Given the description of an element on the screen output the (x, y) to click on. 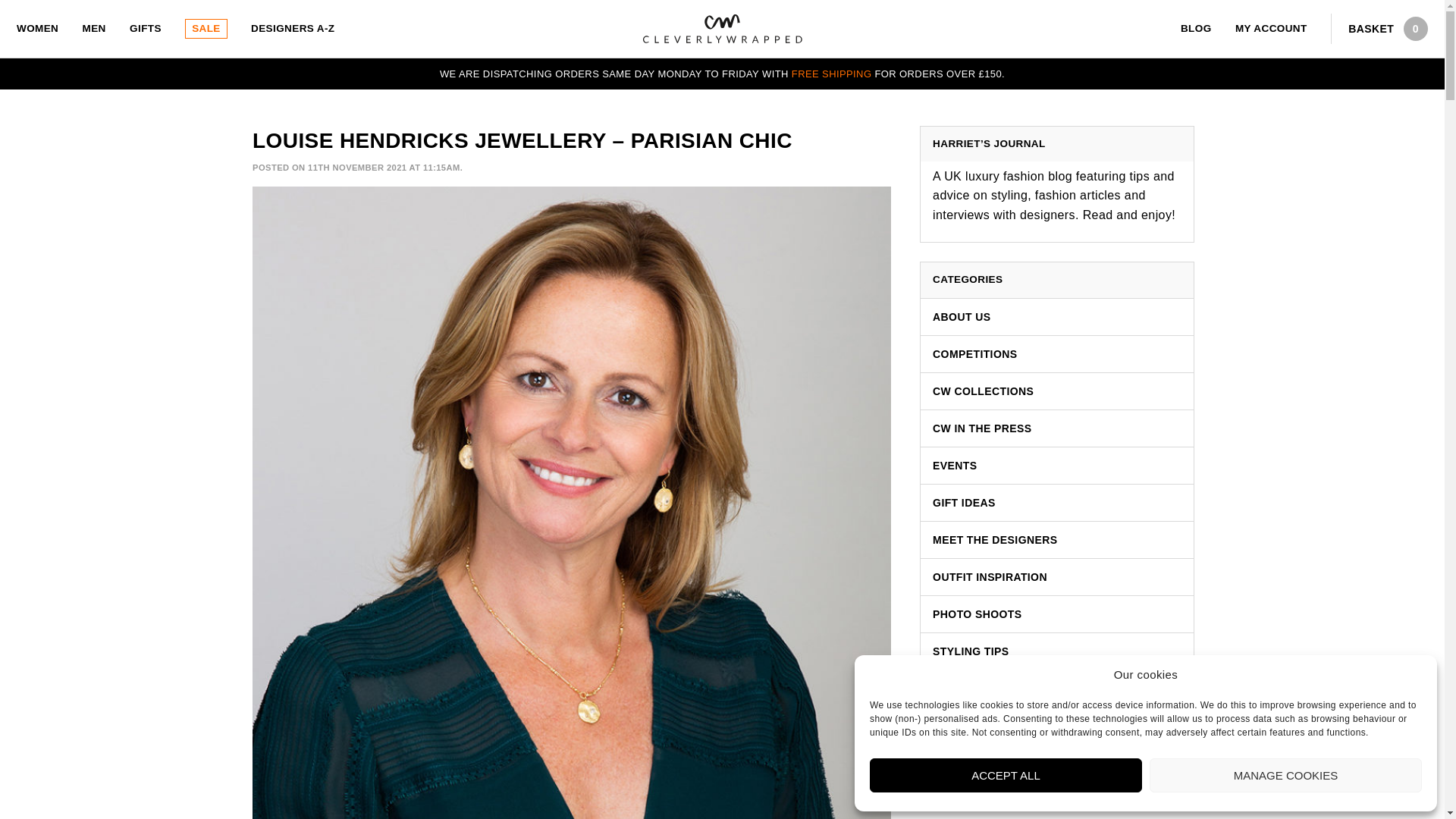
MANAGE COOKIES (1286, 775)
View your shopping cart (1381, 28)
ACCEPT ALL (1005, 775)
WOMEN (37, 28)
